Given the description of an element on the screen output the (x, y) to click on. 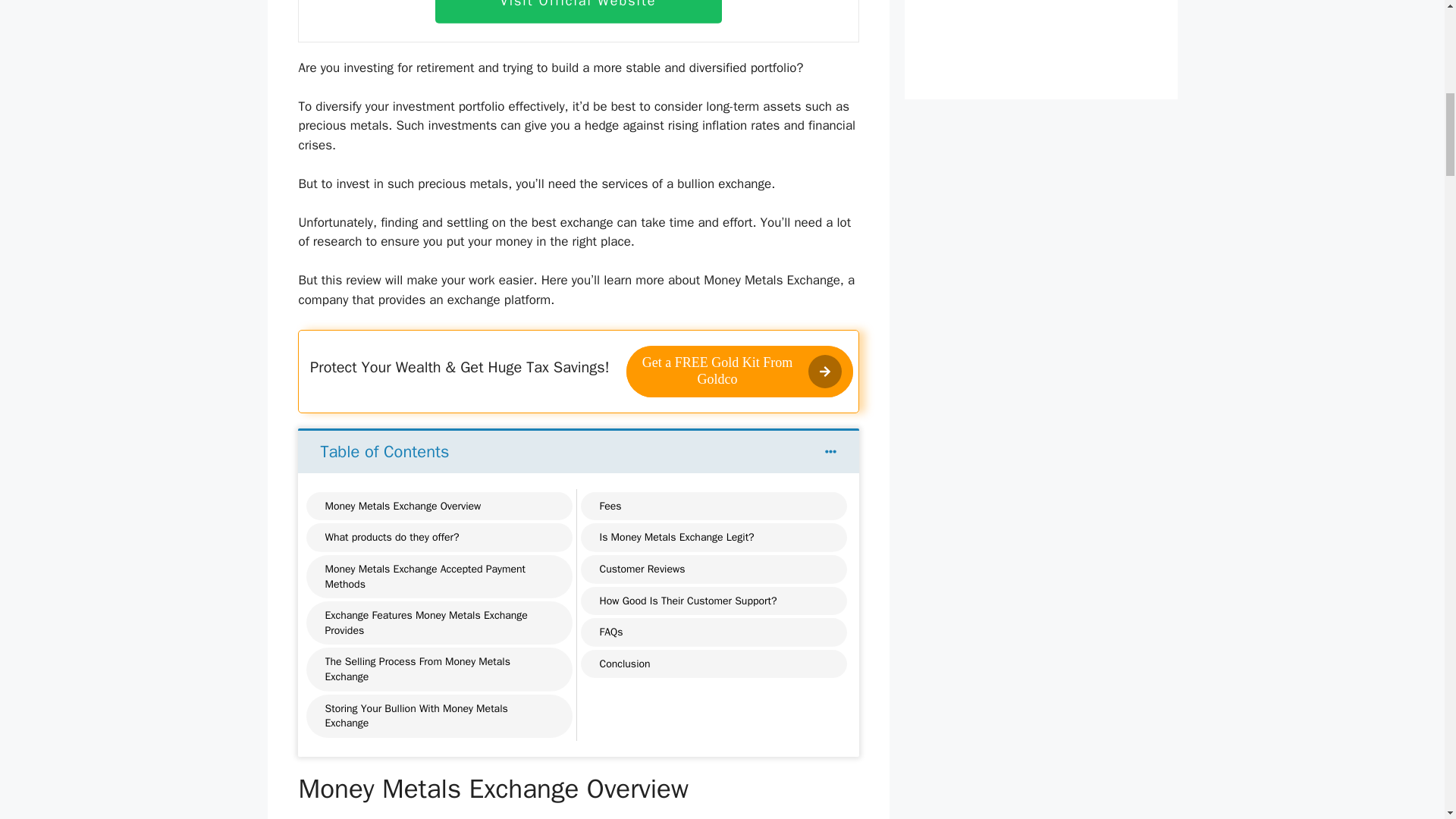
FAQs (610, 631)
Customer Reviews (641, 569)
Exchange Features Money Metals Exchange Provides (438, 623)
Exchange Features Money Metals Exchange Provides (438, 623)
Money Metals Exchange Accepted Payment Methods (438, 576)
Storing Your Bullion With Money Metals Exchange (438, 716)
Conclusion (623, 663)
The Selling Process From Money Metals Exchange (438, 668)
FAQs (610, 631)
Money Metals Exchange Overview (402, 506)
The Selling Process From Money Metals Exchange (438, 668)
How Good Is Their Customer Support? (687, 601)
What products do they offer? (391, 537)
Is Money Metals Exchange Legit? (676, 537)
